Given the description of an element on the screen output the (x, y) to click on. 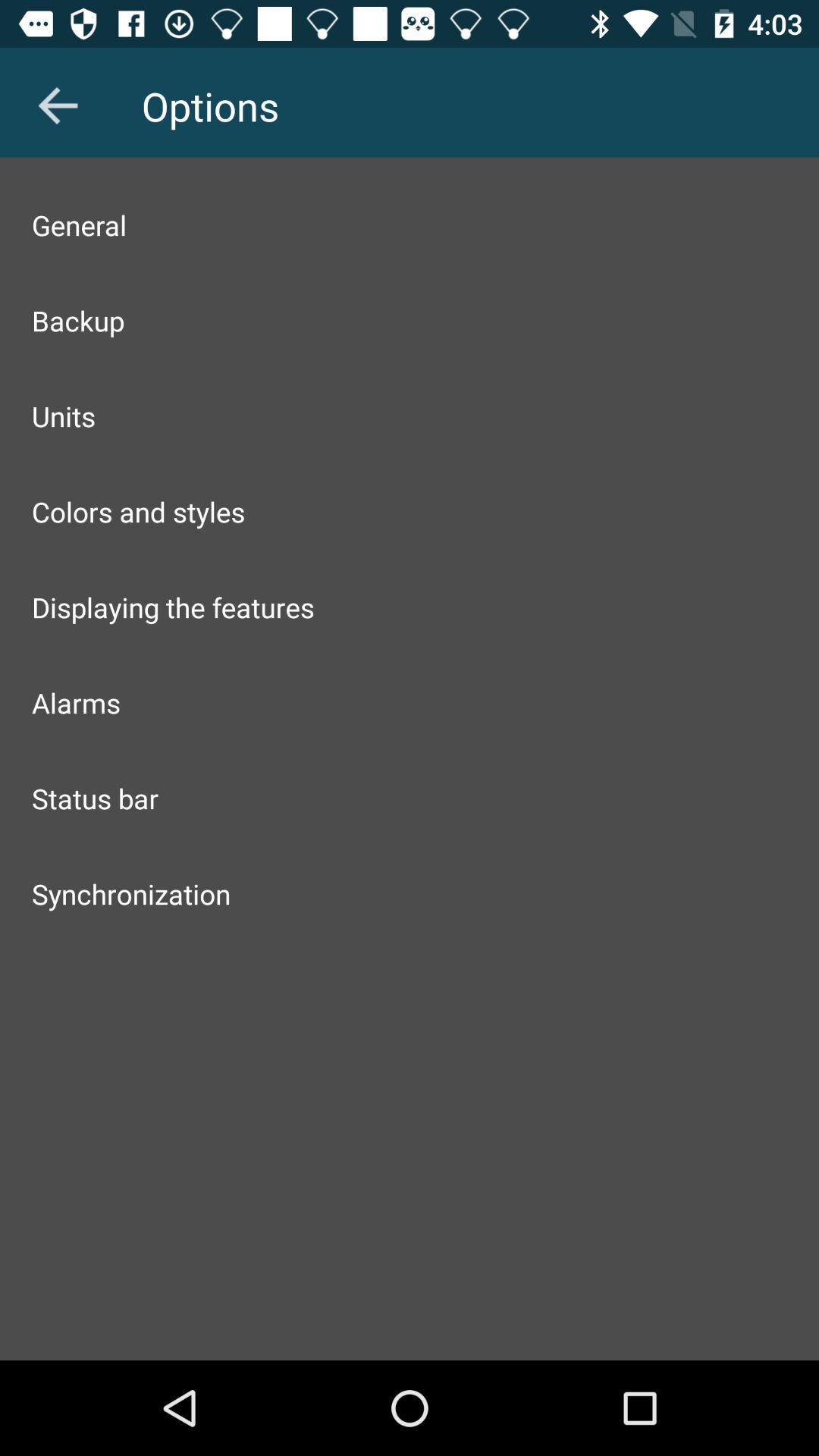
open the icon at the top left corner (57, 105)
